Given the description of an element on the screen output the (x, y) to click on. 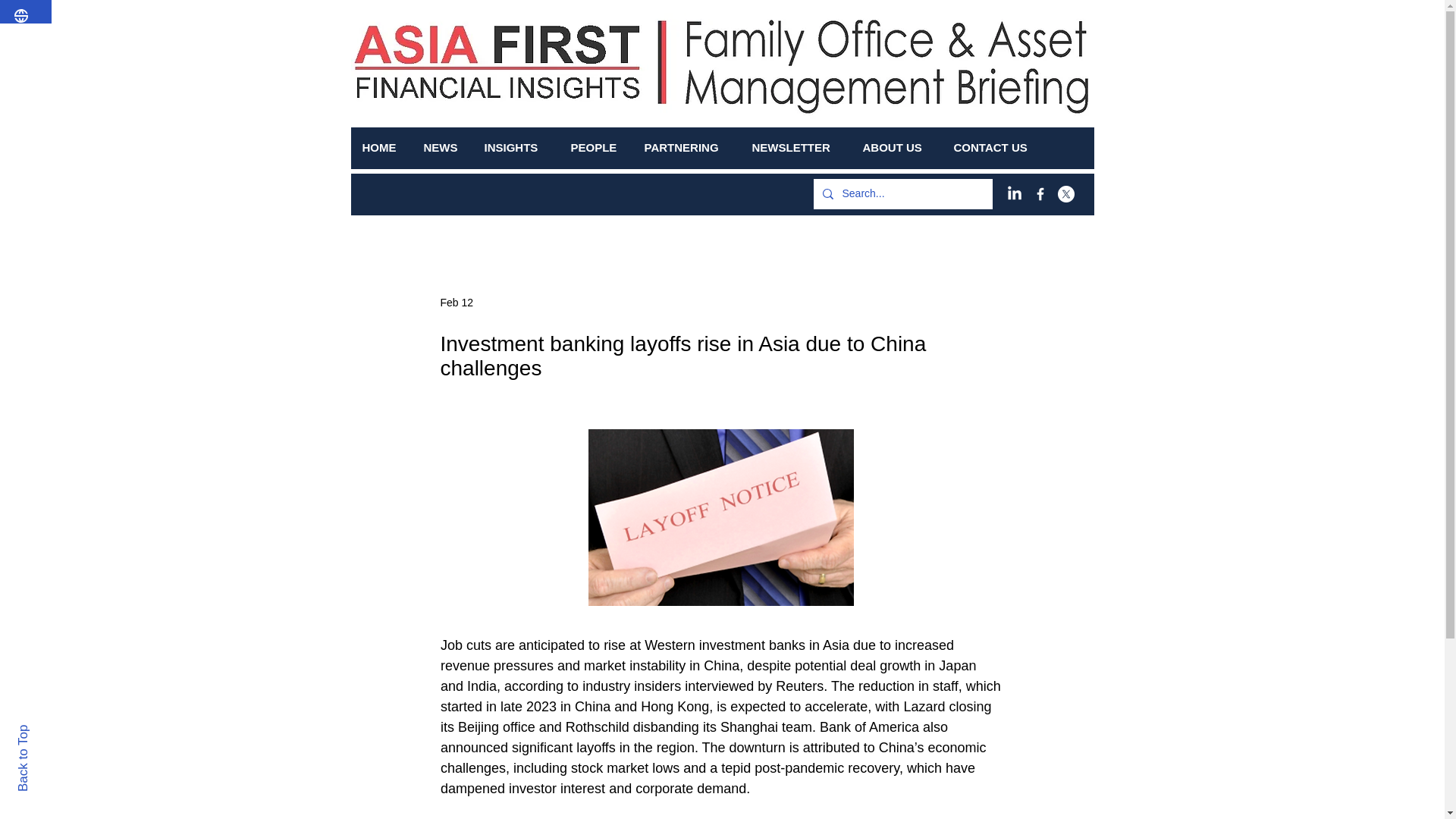
Back to Top (49, 730)
TopImageLogo - Masthead.jpg (872, 71)
ABOUT US (896, 147)
CONTACT US (995, 147)
INSIGHTS (516, 147)
PARTNERING (685, 147)
NEWSLETTER (794, 147)
Feb 12 (456, 301)
PEOPLE (596, 147)
HOME (381, 147)
